Given the description of an element on the screen output the (x, y) to click on. 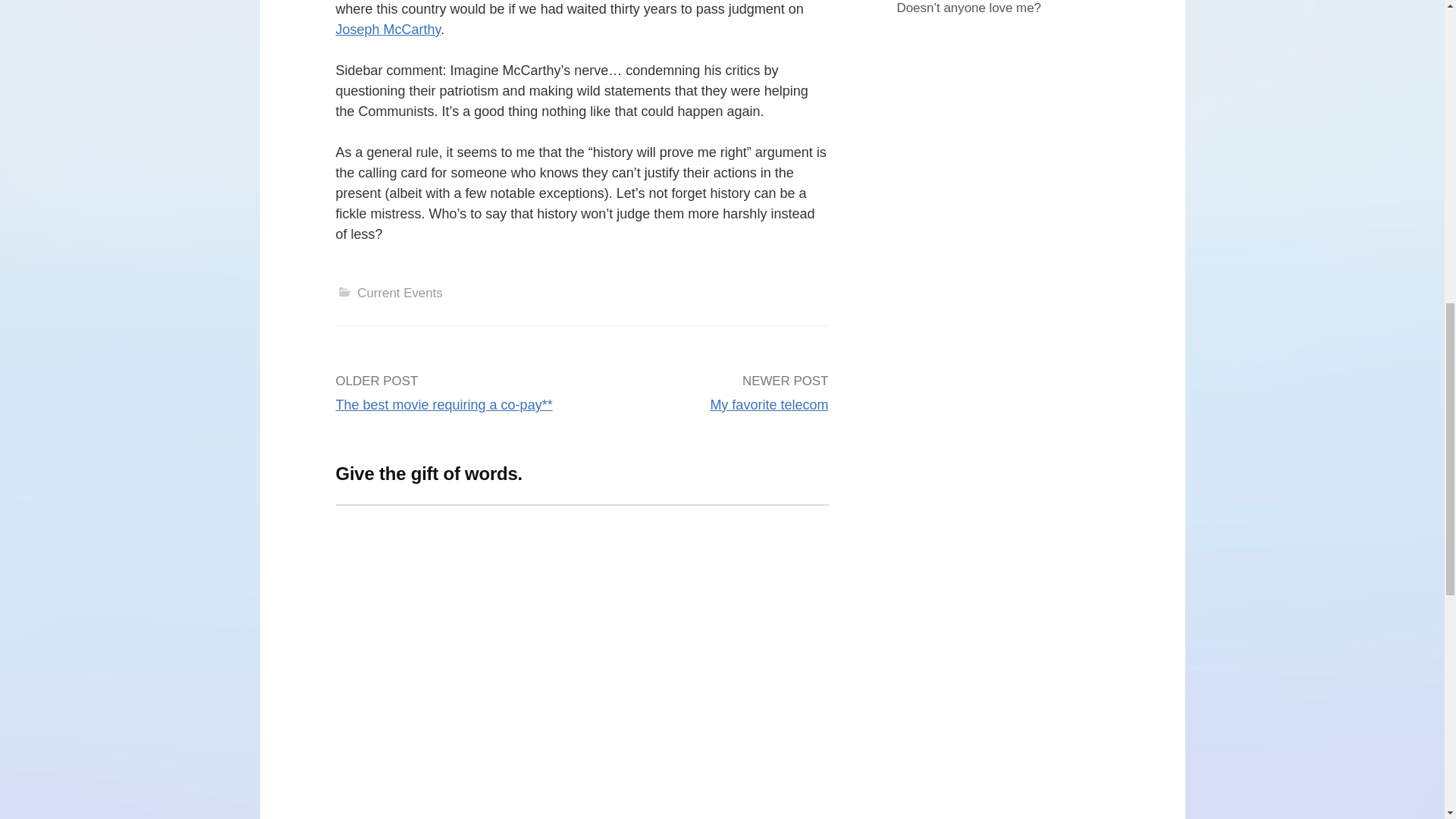
Joseph McCarthy (387, 29)
My favorite telecom (769, 404)
Current Events (399, 292)
